Given the description of an element on the screen output the (x, y) to click on. 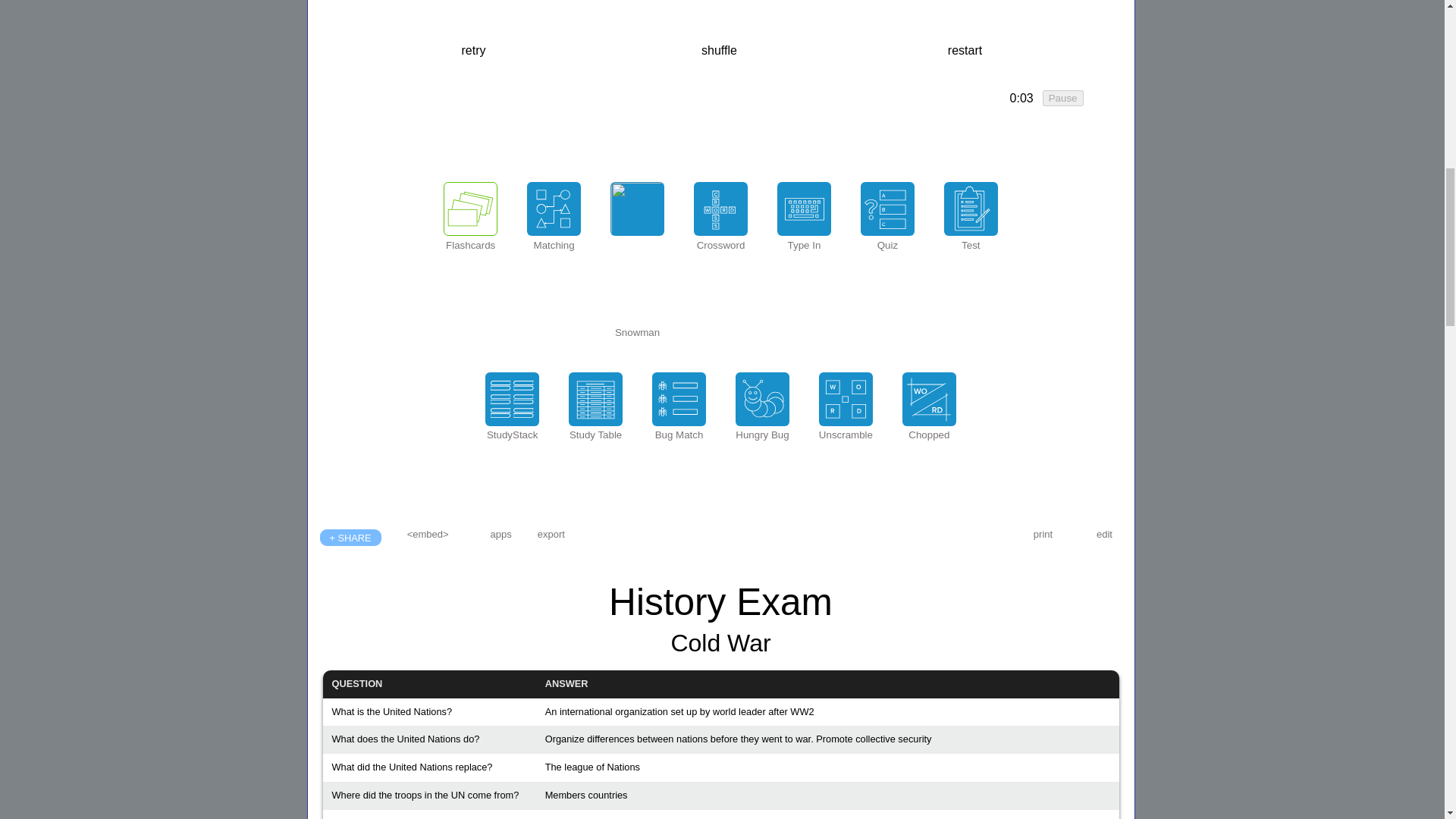
Move all cards back to the 'remaining' box (964, 50)
Shuffle the cards in the 'remaining' box (718, 50)
Pause (1062, 98)
click to hide (1021, 98)
export (550, 533)
apps (501, 533)
